Given the description of an element on the screen output the (x, y) to click on. 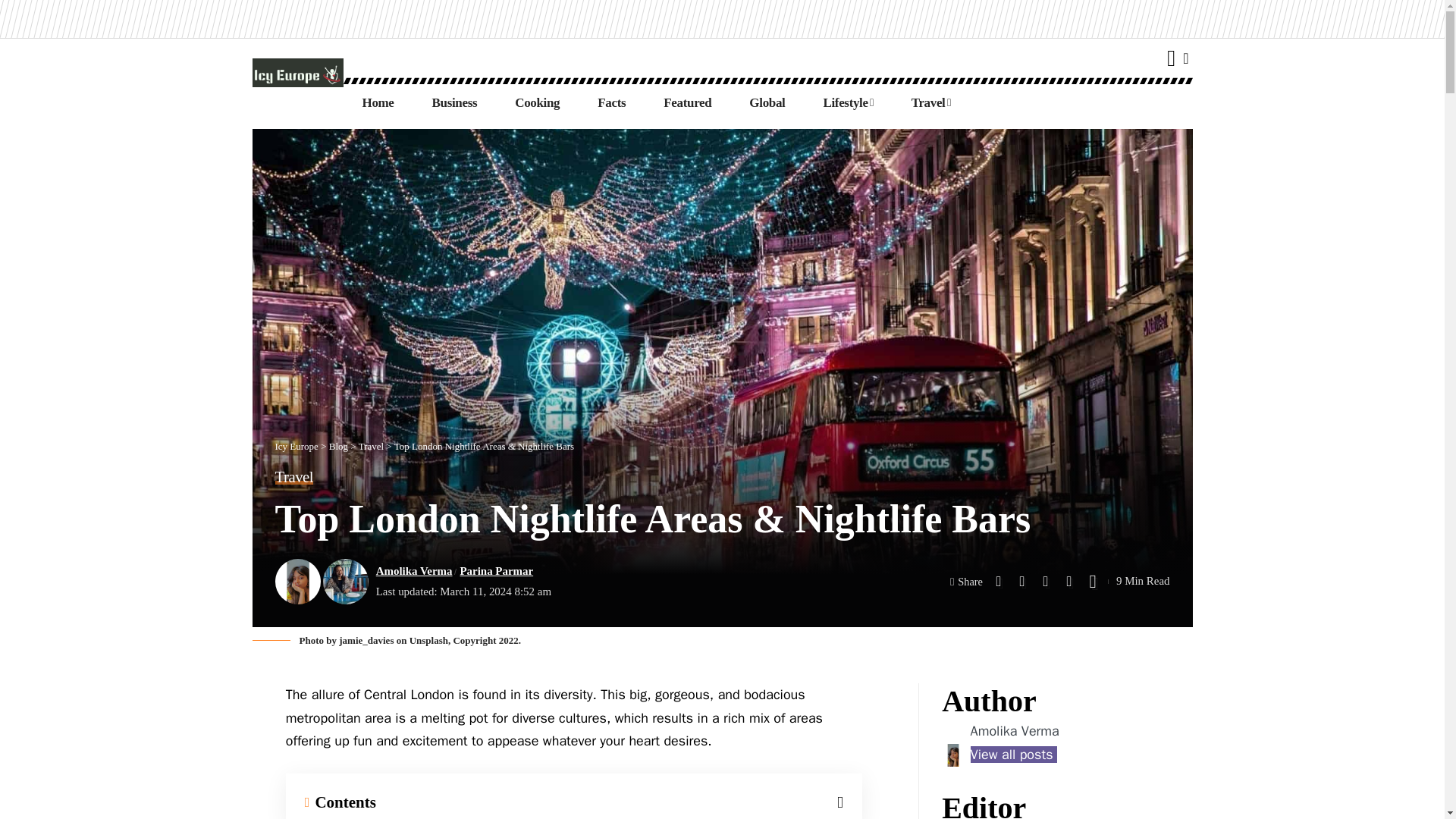
Go to the Travel Category archives. (371, 446)
Go to Blog. (338, 446)
Travel (930, 103)
Go to Icy Europe. (296, 446)
View all posts (1014, 754)
Amolika Verma (1015, 730)
Business (454, 103)
Featured (687, 103)
Facts (611, 103)
Home (377, 103)
